Given the description of an element on the screen output the (x, y) to click on. 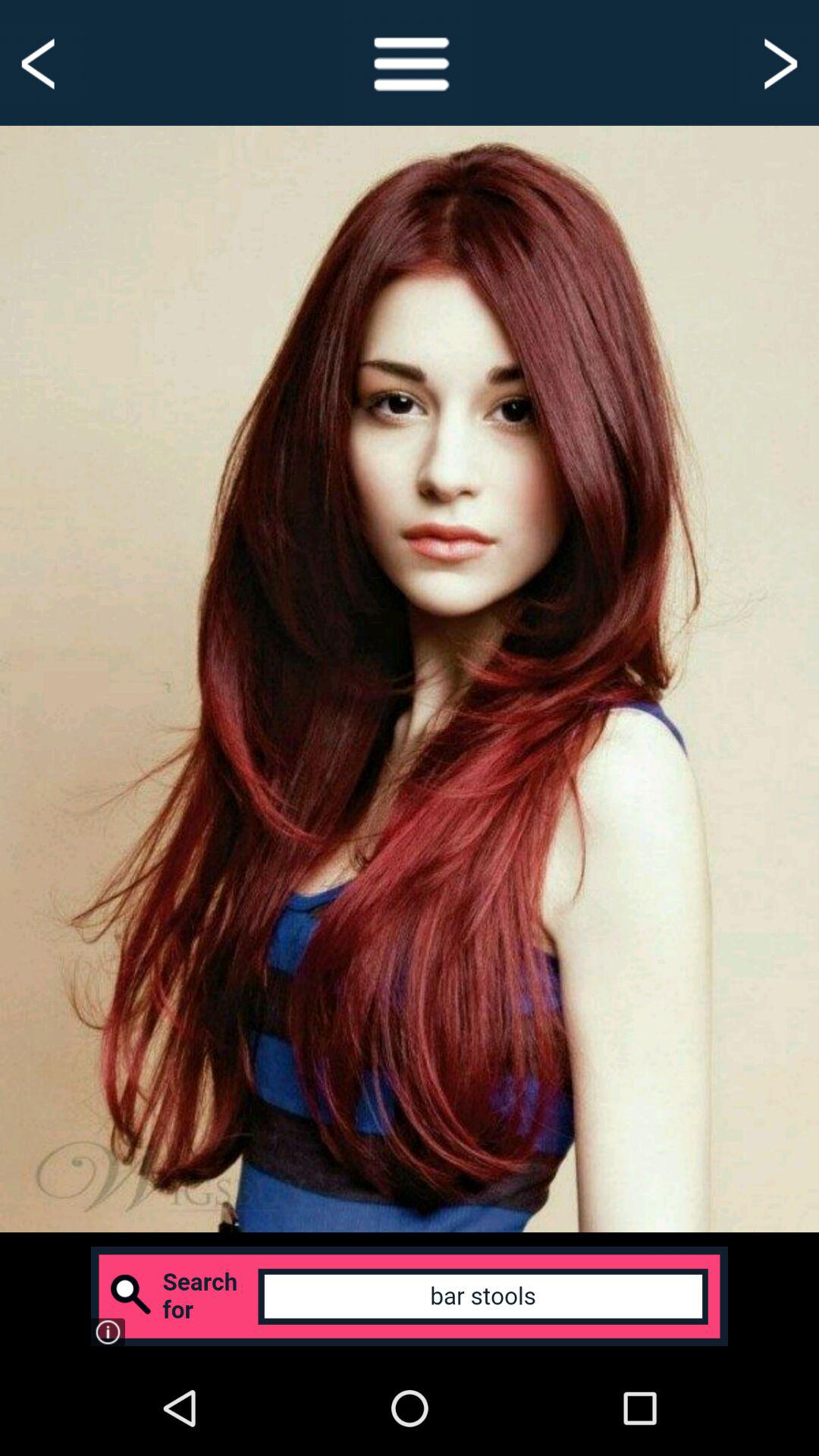
the button is used to go back (40, 62)
